Given the description of an element on the screen output the (x, y) to click on. 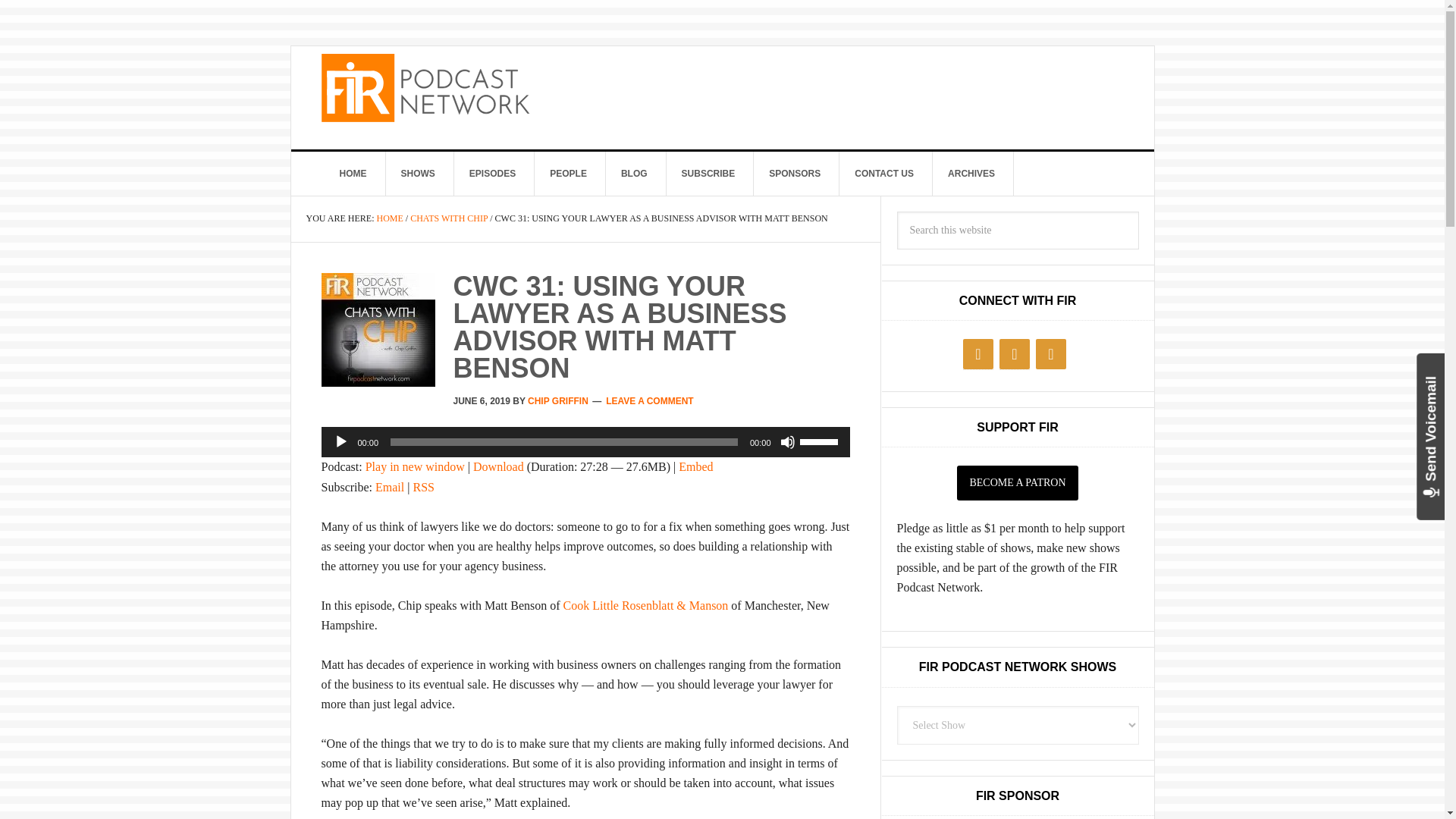
Subscribe via RSS (422, 486)
Mute (786, 441)
ARCHIVES (971, 173)
Embed (695, 466)
SHOWS (416, 173)
HOME (389, 217)
Download (498, 466)
HOME (353, 173)
Posts by Chip Griffin (557, 400)
SPONSORS (795, 173)
SUBSCRIBE (708, 173)
Email (389, 486)
Play (341, 441)
